Given the description of an element on the screen output the (x, y) to click on. 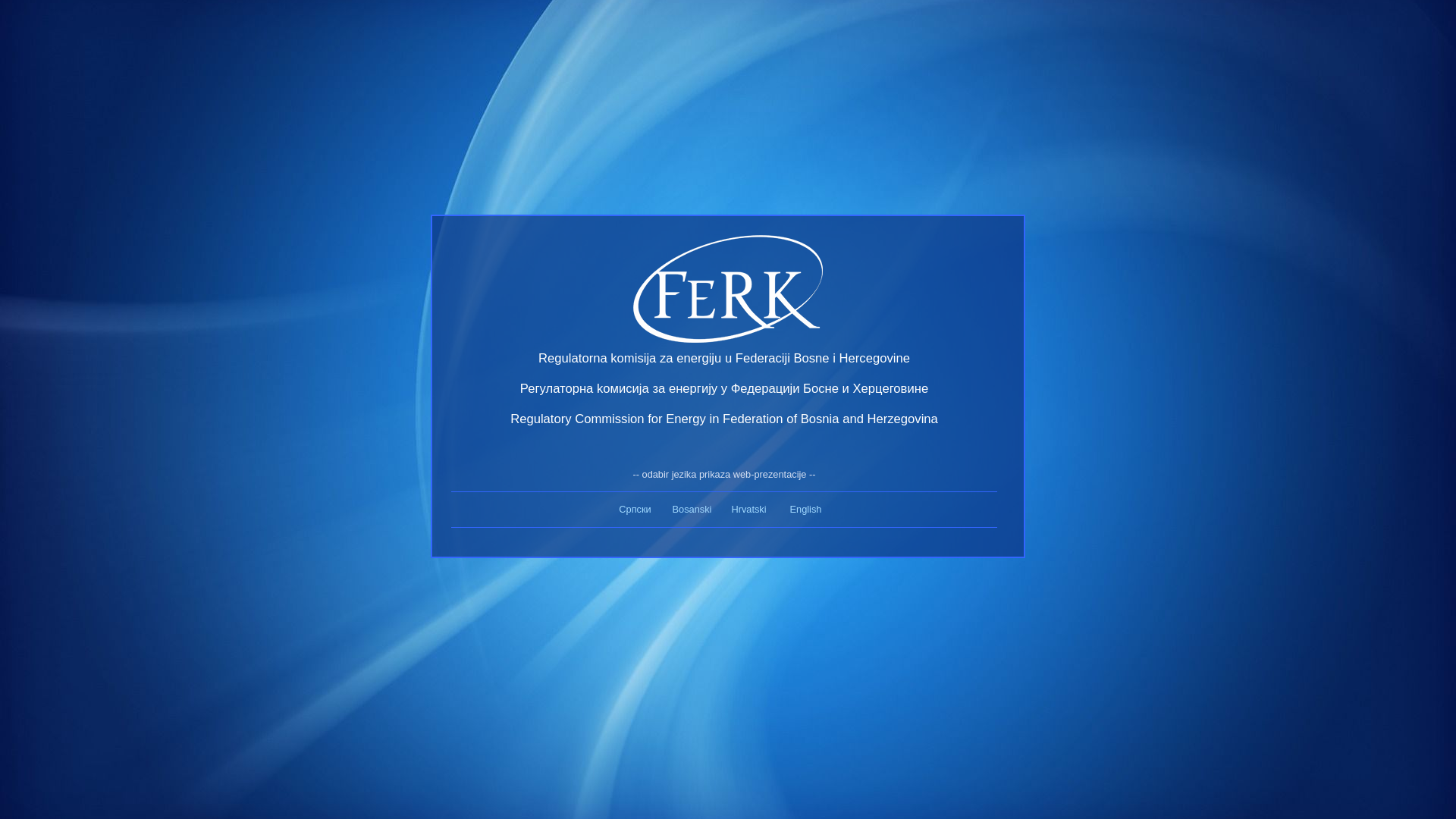
English Element type: text (806, 508)
Hrvatski Element type: text (748, 508)
Bosanski Element type: text (692, 508)
